Given the description of an element on the screen output the (x, y) to click on. 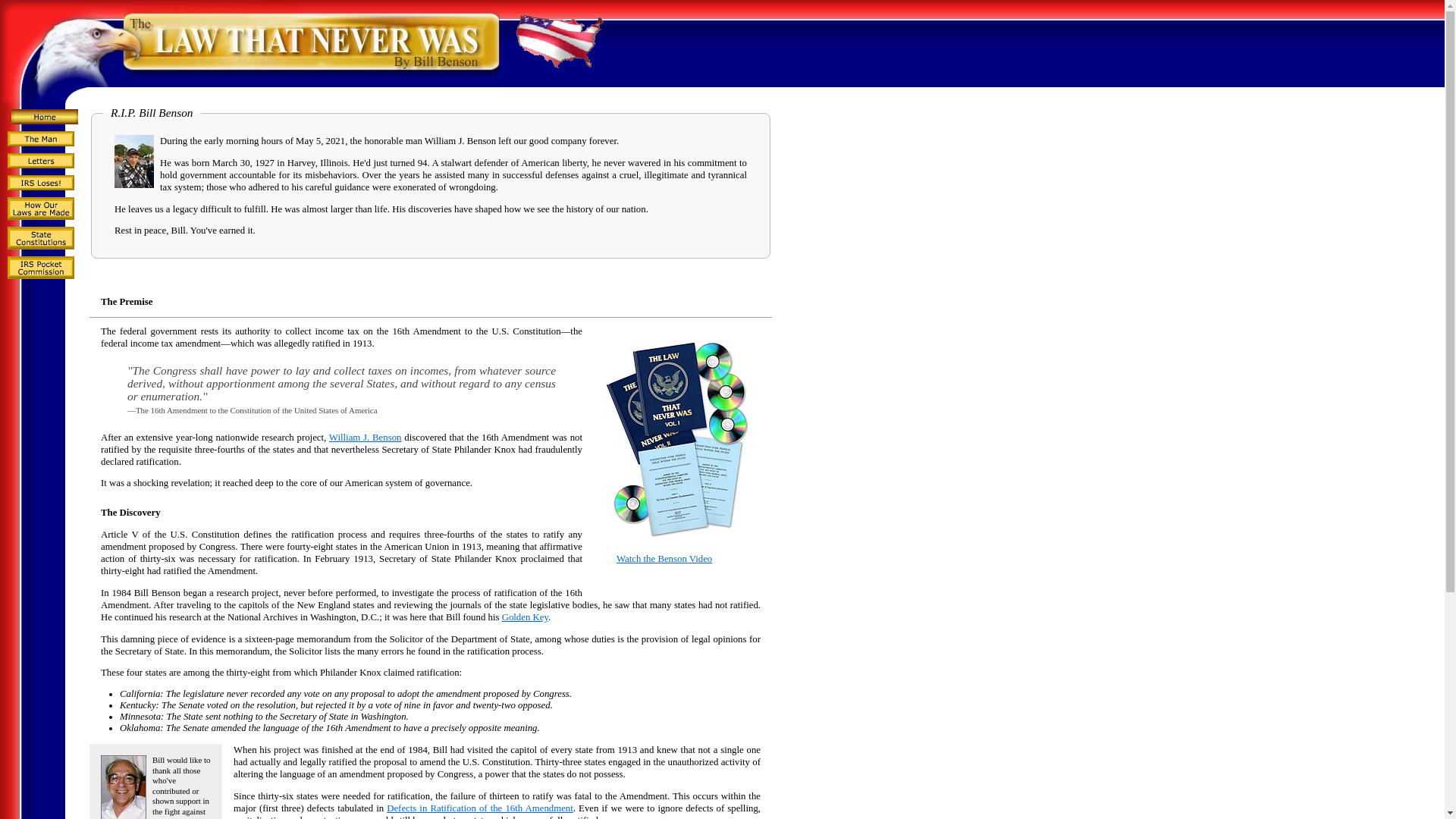
Golden Key (525, 616)
Watch the Benson Video (663, 558)
Visit our store (677, 534)
Defects in Ratification of the 16th Amendment (480, 808)
William J. Benson (365, 437)
